Given the description of an element on the screen output the (x, y) to click on. 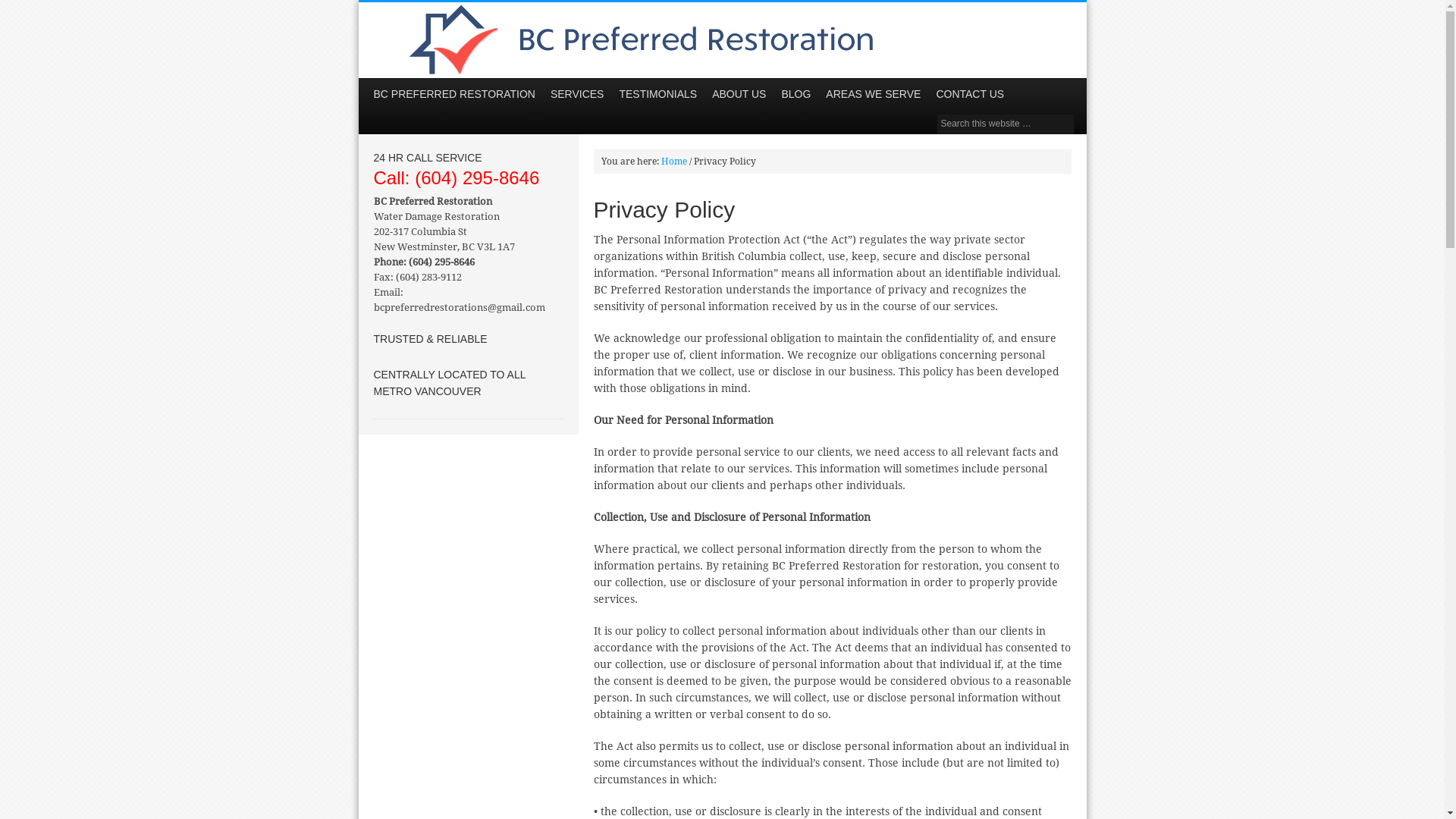
ABOUT US Element type: text (738, 93)
BLOG Element type: text (795, 93)
BC PREFERRED RESTORATION Element type: text (721, 40)
TESTIMONIALS Element type: text (657, 93)
SERVICES Element type: text (576, 93)
BC PREFERRED RESTORATION Element type: text (453, 93)
Search Element type: text (24, 10)
AREAS WE SERVE Element type: text (873, 93)
Home Element type: text (674, 161)
CONTACT US Element type: text (969, 93)
